Given the description of an element on the screen output the (x, y) to click on. 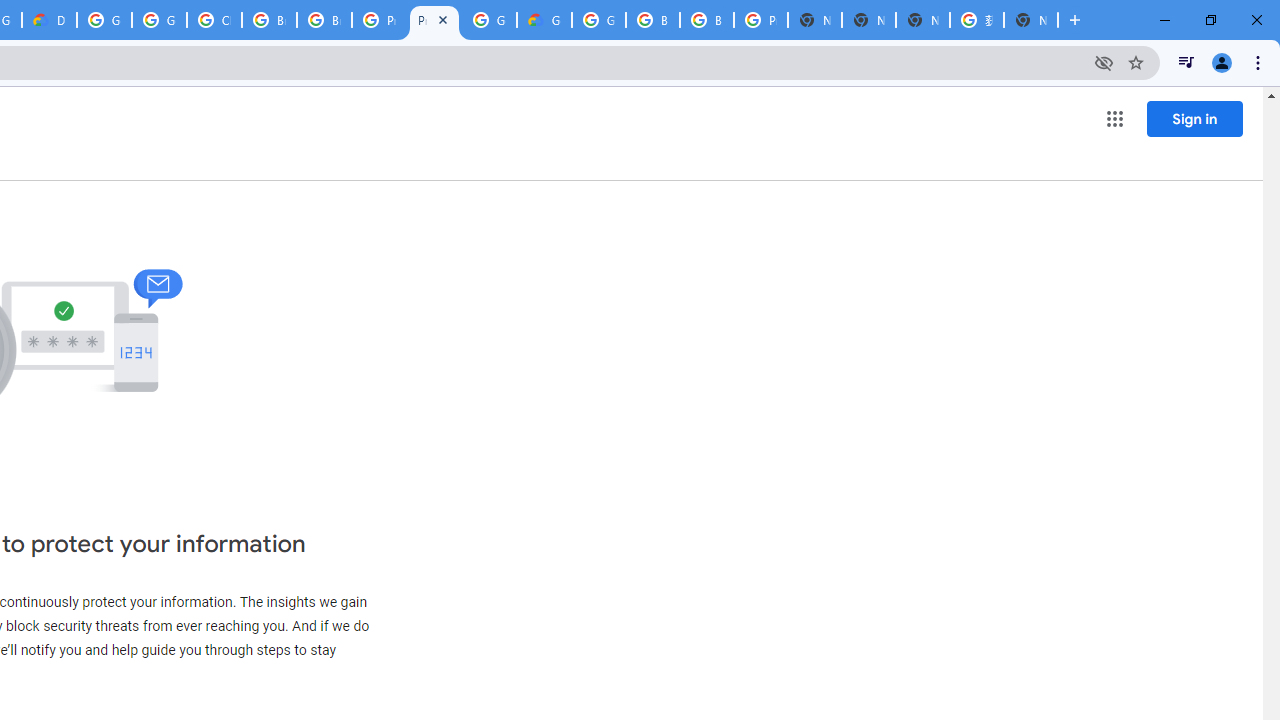
Browse Chrome as a guest - Computer - Google Chrome Help (652, 20)
Google Cloud Platform (598, 20)
New Tab (815, 20)
Google Cloud Platform (103, 20)
